Given the description of an element on the screen output the (x, y) to click on. 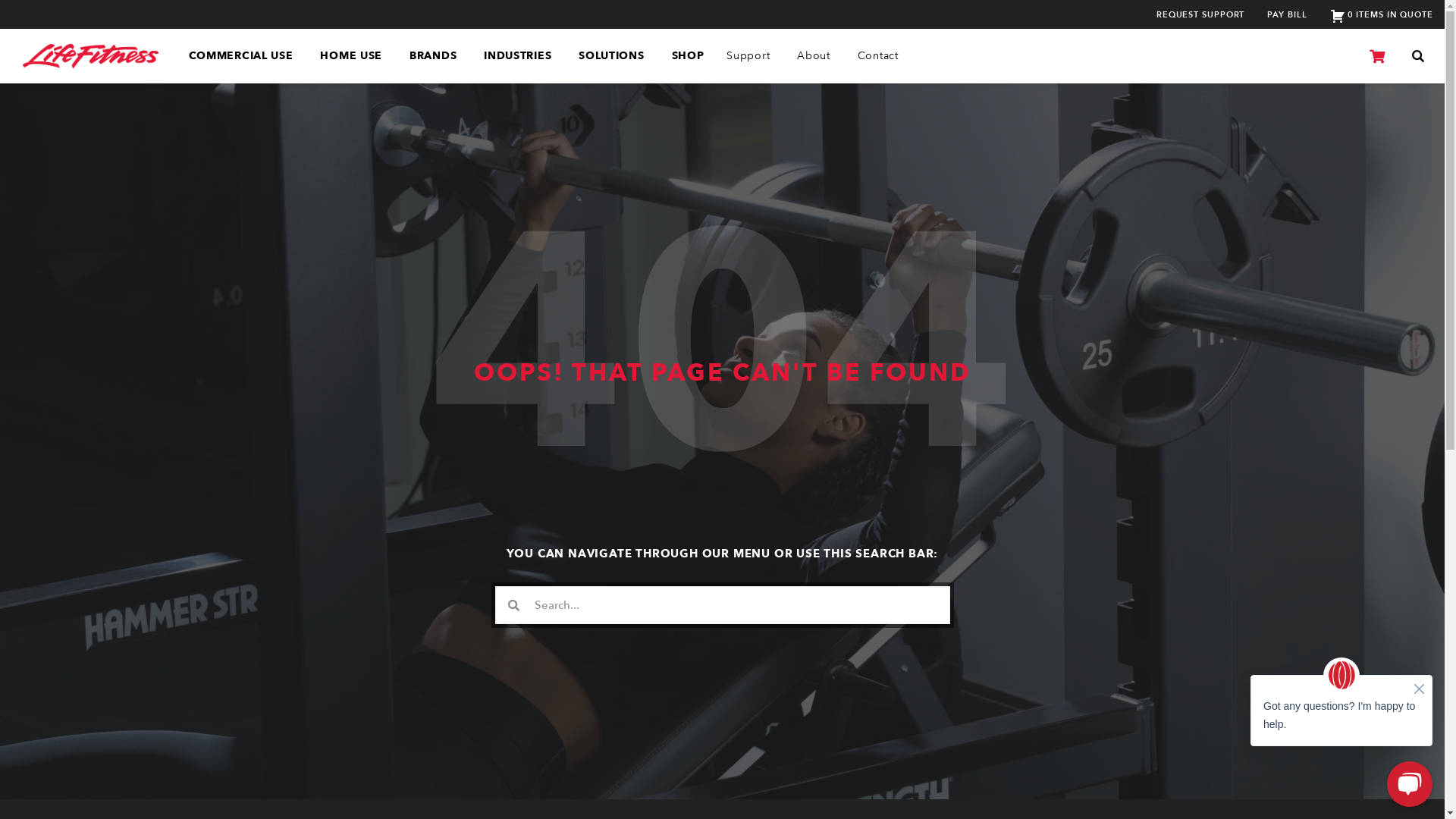
About Element type: text (815, 55)
BRANDS Element type: text (435, 55)
HOME USE Element type: text (353, 55)
Support Element type: text (750, 55)
0 ITEMS IN QUOTE Element type: text (1381, 14)
View your shopping cart Element type: hover (1376, 56)
Contact Element type: text (880, 55)
INDUSTRIES Element type: text (519, 55)
COMMERCIAL USE Element type: text (243, 55)
REQUEST SUPPORT Element type: text (1200, 14)
Life Fitness Element type: hover (90, 55)
SOLUTIONS Element type: text (613, 55)
SHOP Element type: text (687, 55)
PAY BILL Element type: text (1286, 14)
